Given the description of an element on the screen output the (x, y) to click on. 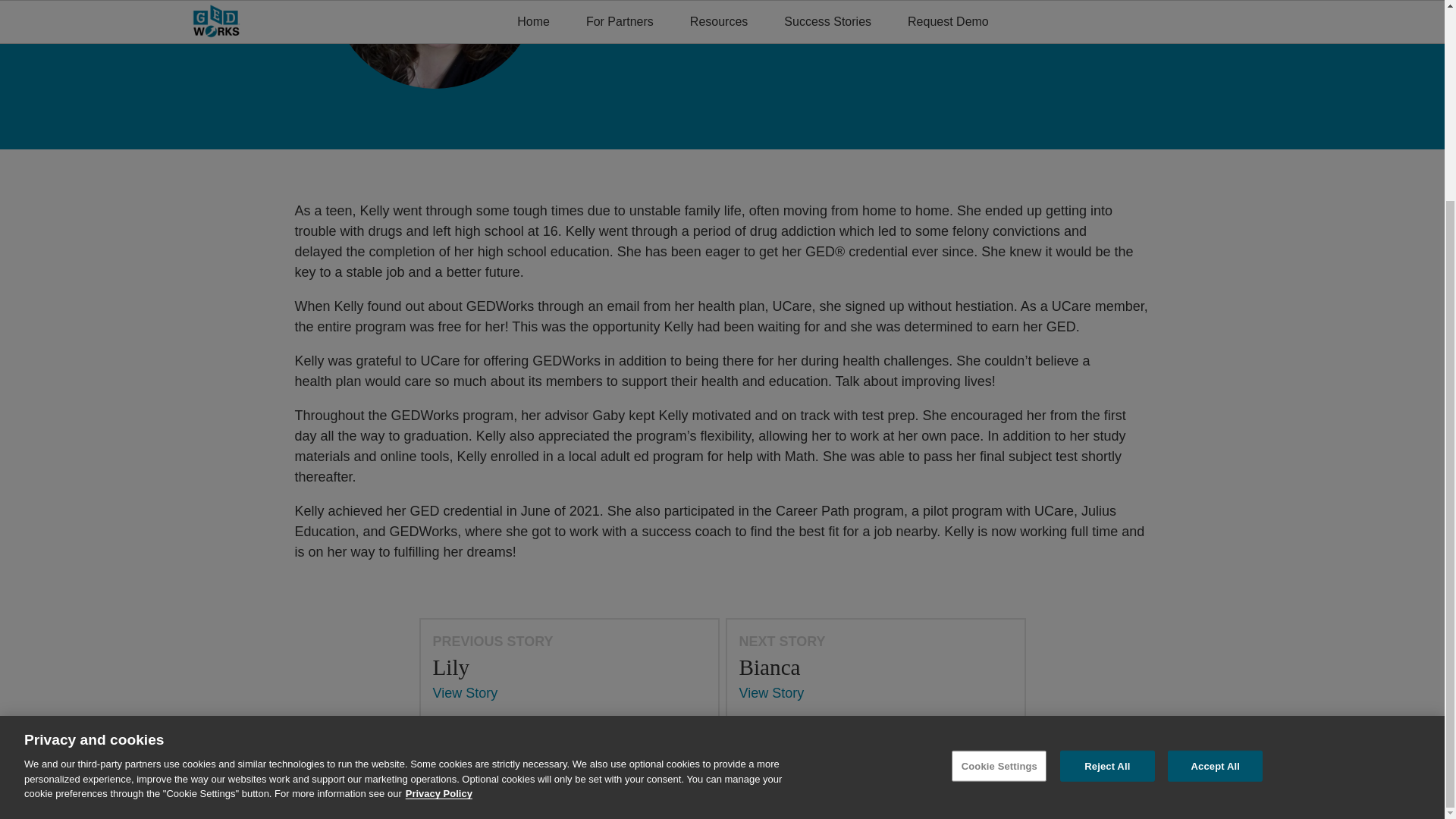
View Story (464, 693)
About GED (561, 793)
View Story (770, 693)
Accessibility (680, 793)
Chat (1406, 523)
Newsroom (620, 793)
